Given the description of an element on the screen output the (x, y) to click on. 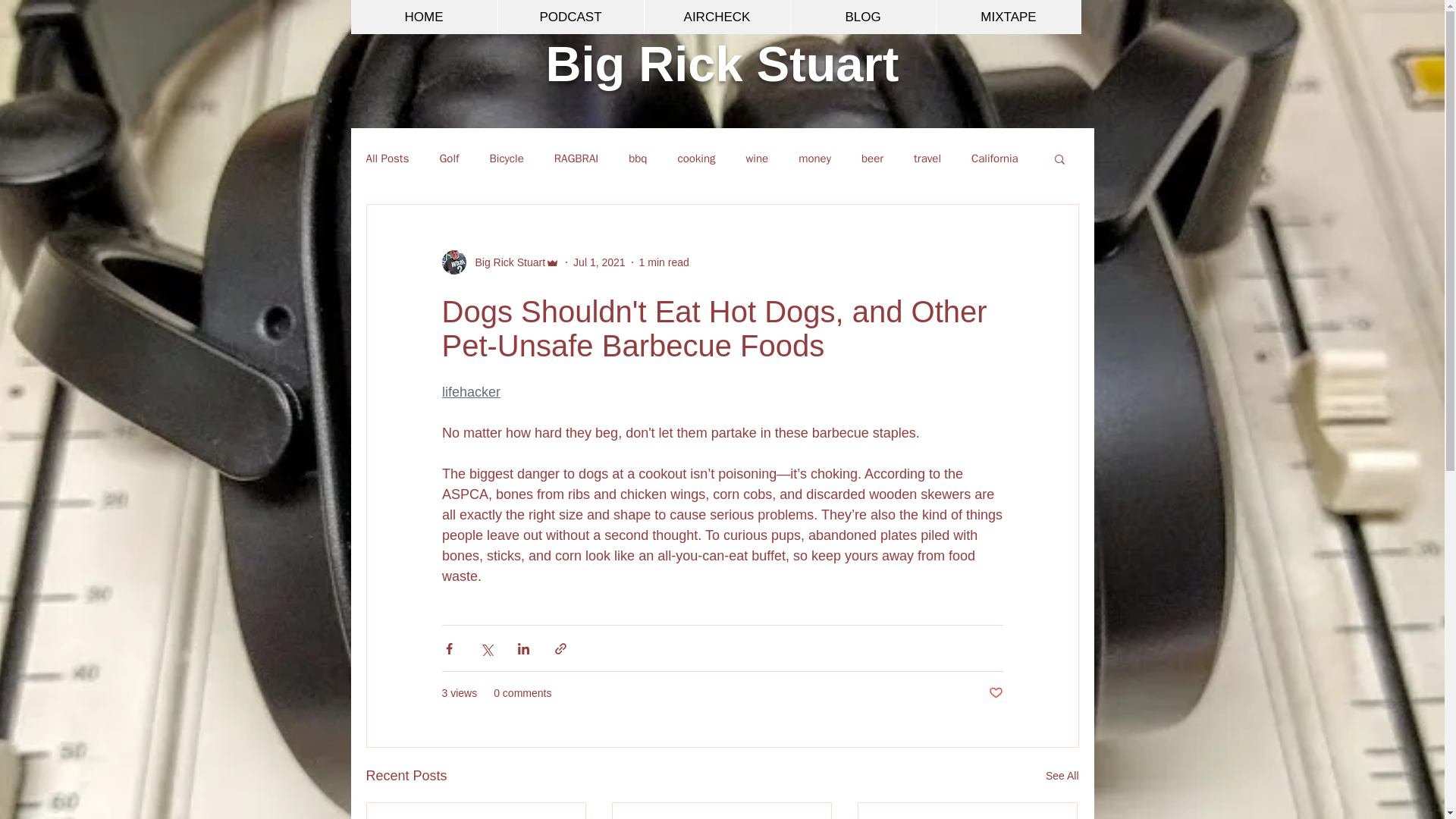
beer (872, 158)
Jul 1, 2021 (599, 262)
BLOG (863, 17)
travel (927, 158)
MIXTAPE (1008, 17)
lifehacker (470, 391)
cooking (695, 158)
1 min read (663, 262)
AIRCHECK (716, 17)
HOME (423, 17)
wine (756, 158)
PODCAST (570, 17)
All Posts (387, 158)
RAGBRAI (576, 158)
money (814, 158)
